Given the description of an element on the screen output the (x, y) to click on. 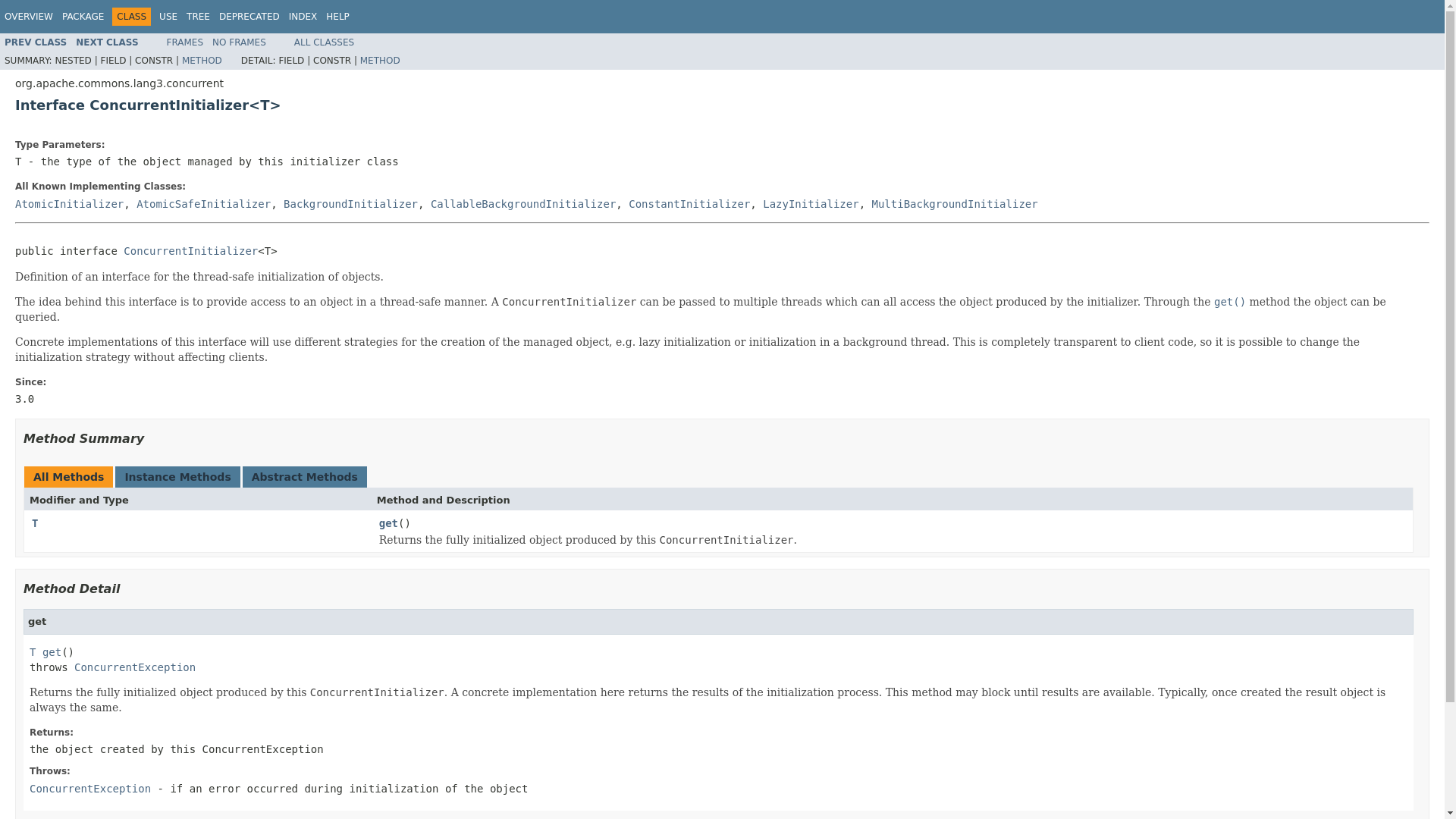
class in org.apache.commons.lang3.concurrent (810, 203)
AtomicSafeInitializer (203, 203)
class in org.apache.commons.lang3.concurrent (203, 203)
class in org.apache.commons.lang3.concurrent (35, 41)
ConcurrentException (134, 666)
HELP (337, 16)
ALL CLASSES (323, 41)
class in org.apache.commons.lang3.concurrent (350, 203)
NEXT CLASS (106, 41)
